Given the description of an element on the screen output the (x, y) to click on. 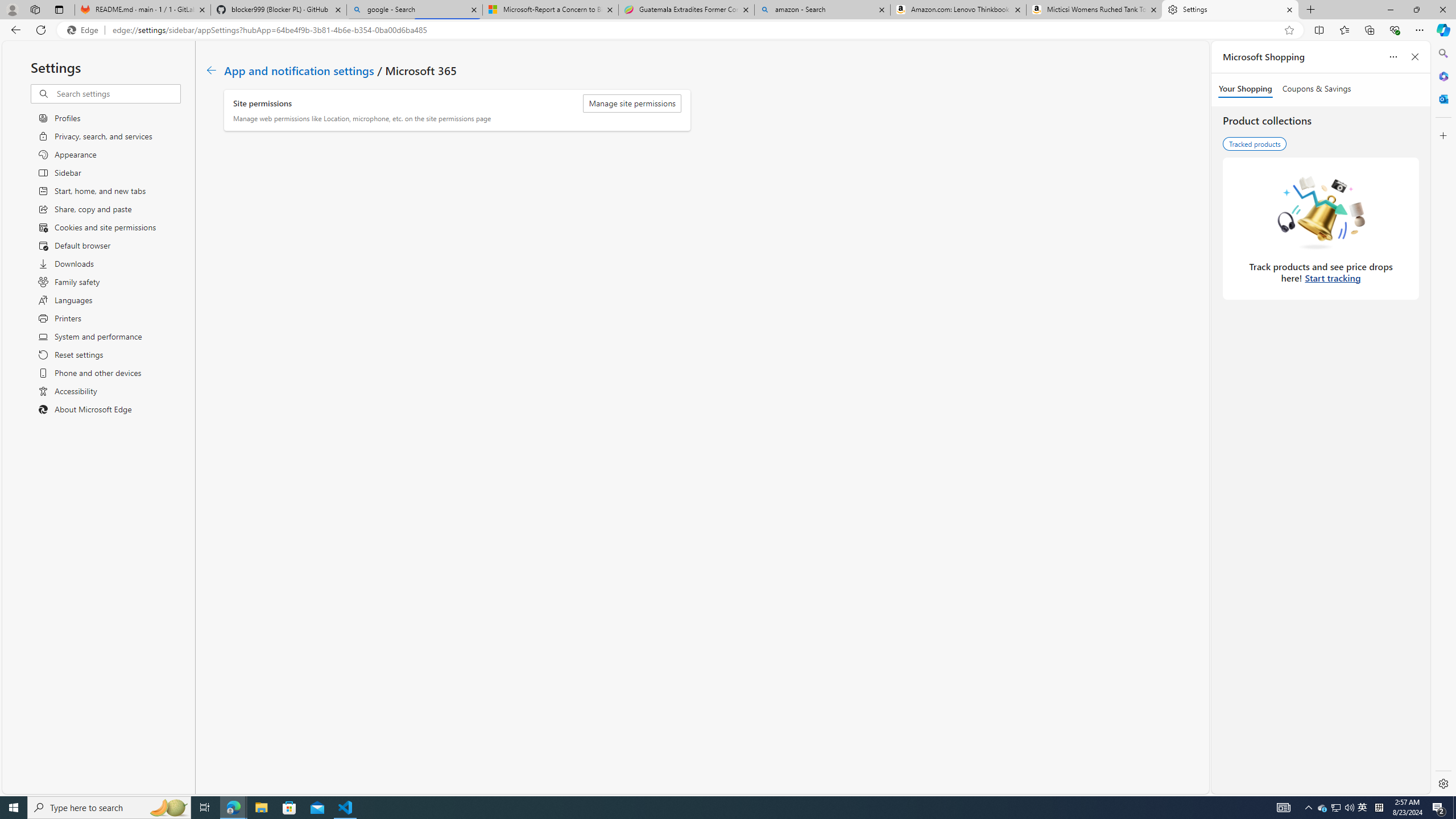
Outlook (1442, 98)
App and notification settings (299, 69)
google - Search (414, 9)
